Given the description of an element on the screen output the (x, y) to click on. 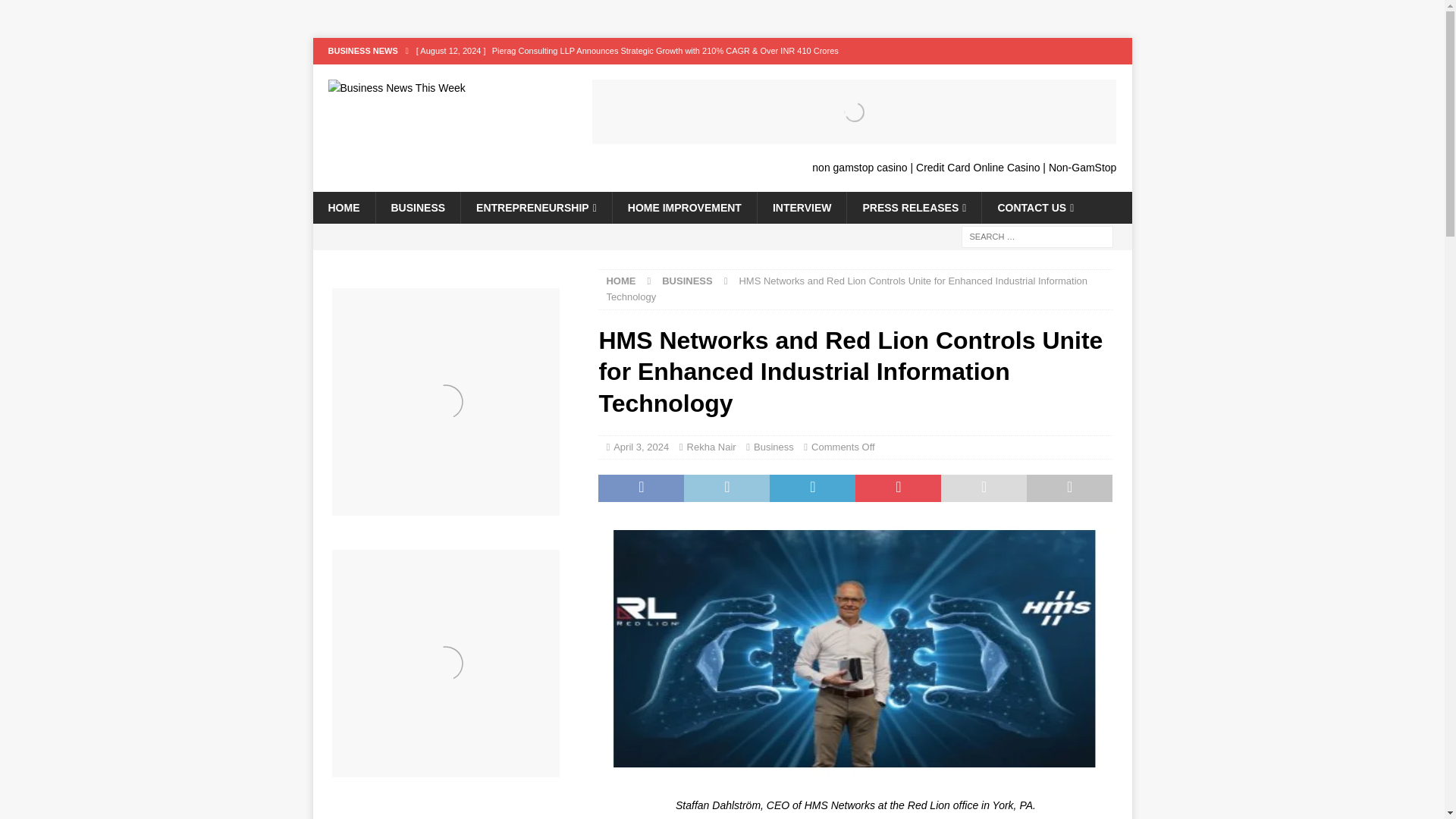
Business (773, 446)
Non-GamStop (1082, 167)
HOME (343, 207)
Search (56, 11)
INTERVIEW (802, 207)
Credit Card Online Casino (977, 167)
Rekha Nair (711, 446)
3rd party ad content (455, 815)
April 3, 2024 (640, 446)
non gamstop casino (859, 167)
